Given the description of an element on the screen output the (x, y) to click on. 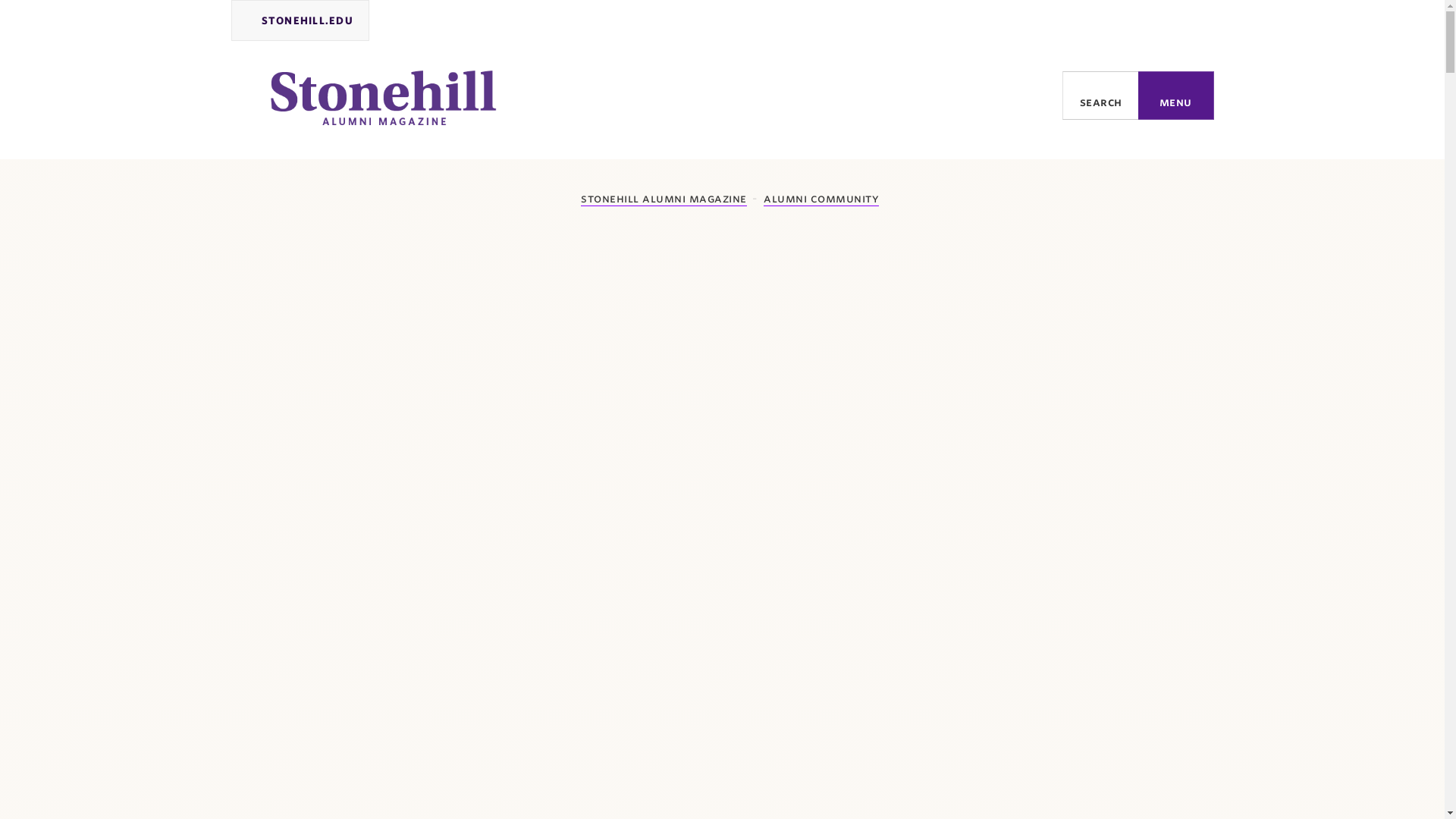
search (1100, 95)
stonehill alumni magazine (655, 198)
alumni community (820, 198)
STONEHILL.EDU (300, 20)
menu (1176, 95)
